Given the description of an element on the screen output the (x, y) to click on. 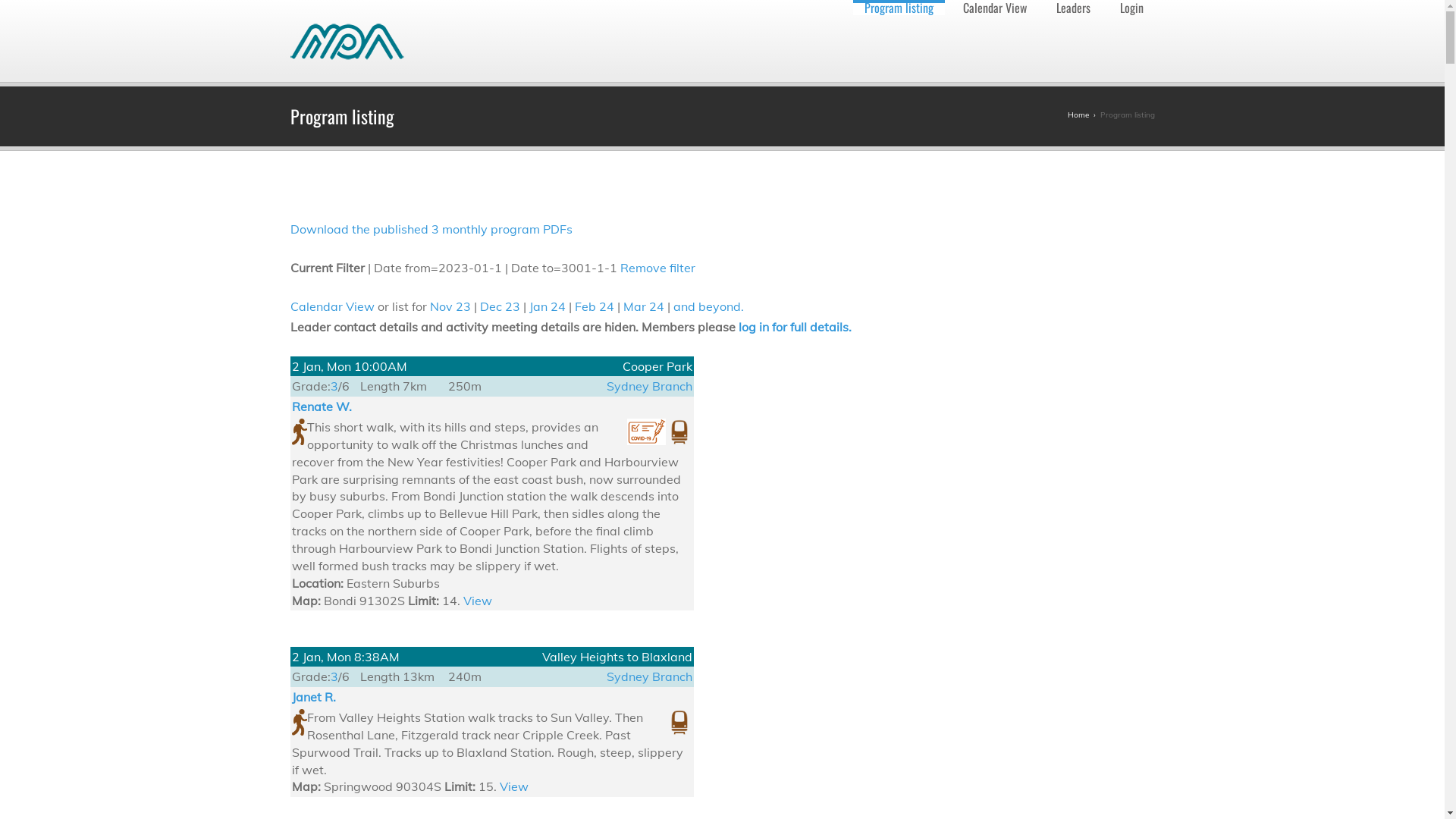
Calendar View Element type: text (331, 305)
Login Element type: text (1131, 7)
Program listing Element type: text (898, 7)
Sydney Branch Element type: text (649, 676)
Leaders Element type: text (1072, 7)
Walk | A bushwalk of any kind short or long Element type: hover (299, 431)
Janet R. Element type: text (313, 696)
Nov 23 Element type: text (449, 305)
Calendar View Element type: text (993, 7)
Mar 24 Element type: text (643, 305)
Dec 23 Element type: text (499, 305)
Feb 24 Element type: text (594, 305)
3 Element type: text (334, 676)
Home Element type: text (1077, 114)
View Element type: text (512, 785)
Renate W. Element type: text (321, 406)
View Element type: text (476, 600)
Sydney Branch Element type: text (649, 385)
Jan 24 Element type: text (547, 305)
3 Element type: text (334, 385)
Remove filter Element type: text (657, 267)
Download the published 3 monthly program PDFs Element type: text (430, 228)
Walk | A bushwalk of any kind short or long Element type: hover (299, 722)
log in for full details. Element type: text (794, 326)
and beyond. Element type: text (708, 305)
